Given the description of an element on the screen output the (x, y) to click on. 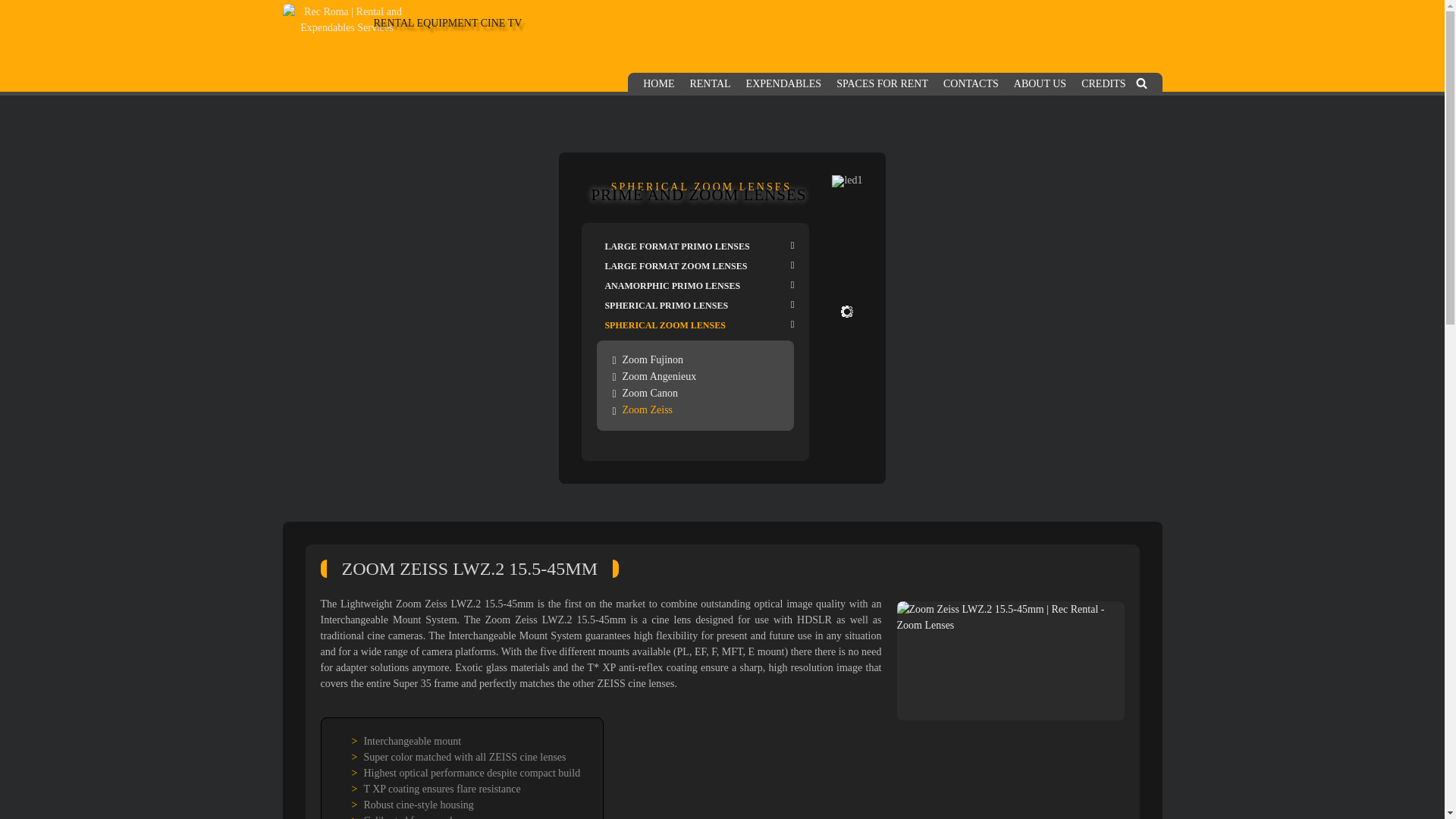
HOME (658, 83)
